Given the description of an element on the screen output the (x, y) to click on. 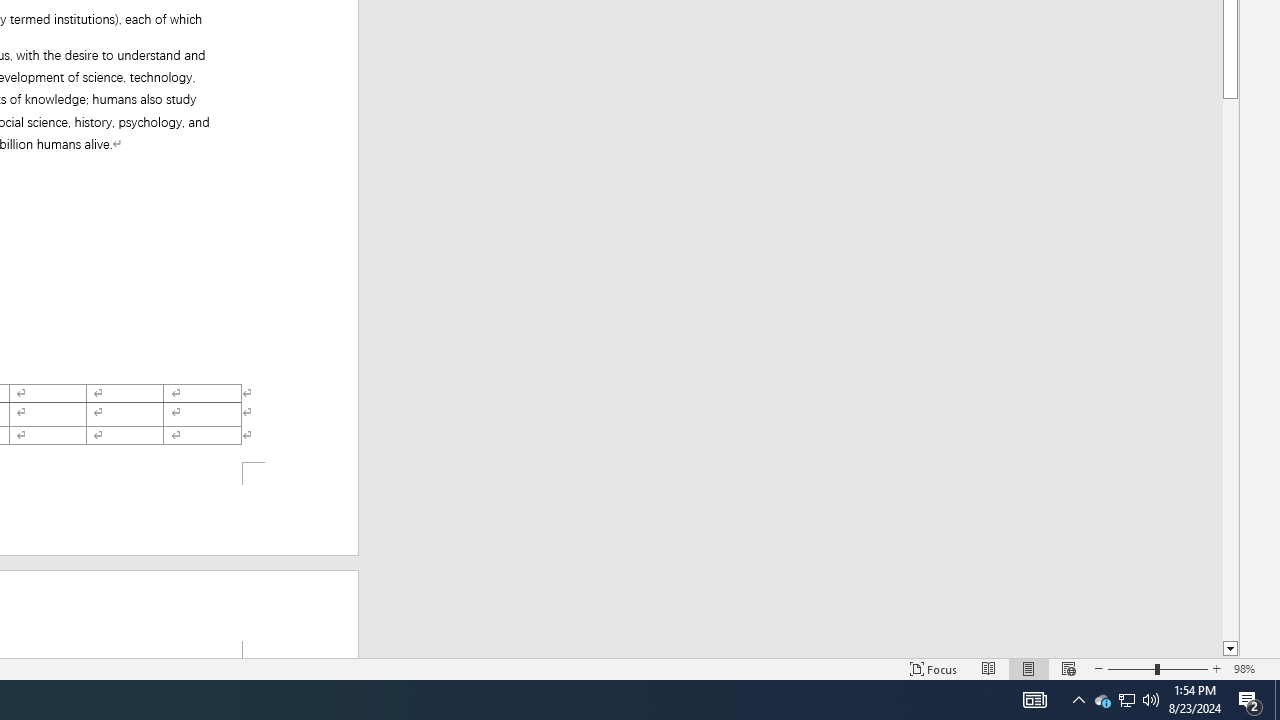
Line down (1230, 649)
Page down (1230, 369)
